Given the description of an element on the screen output the (x, y) to click on. 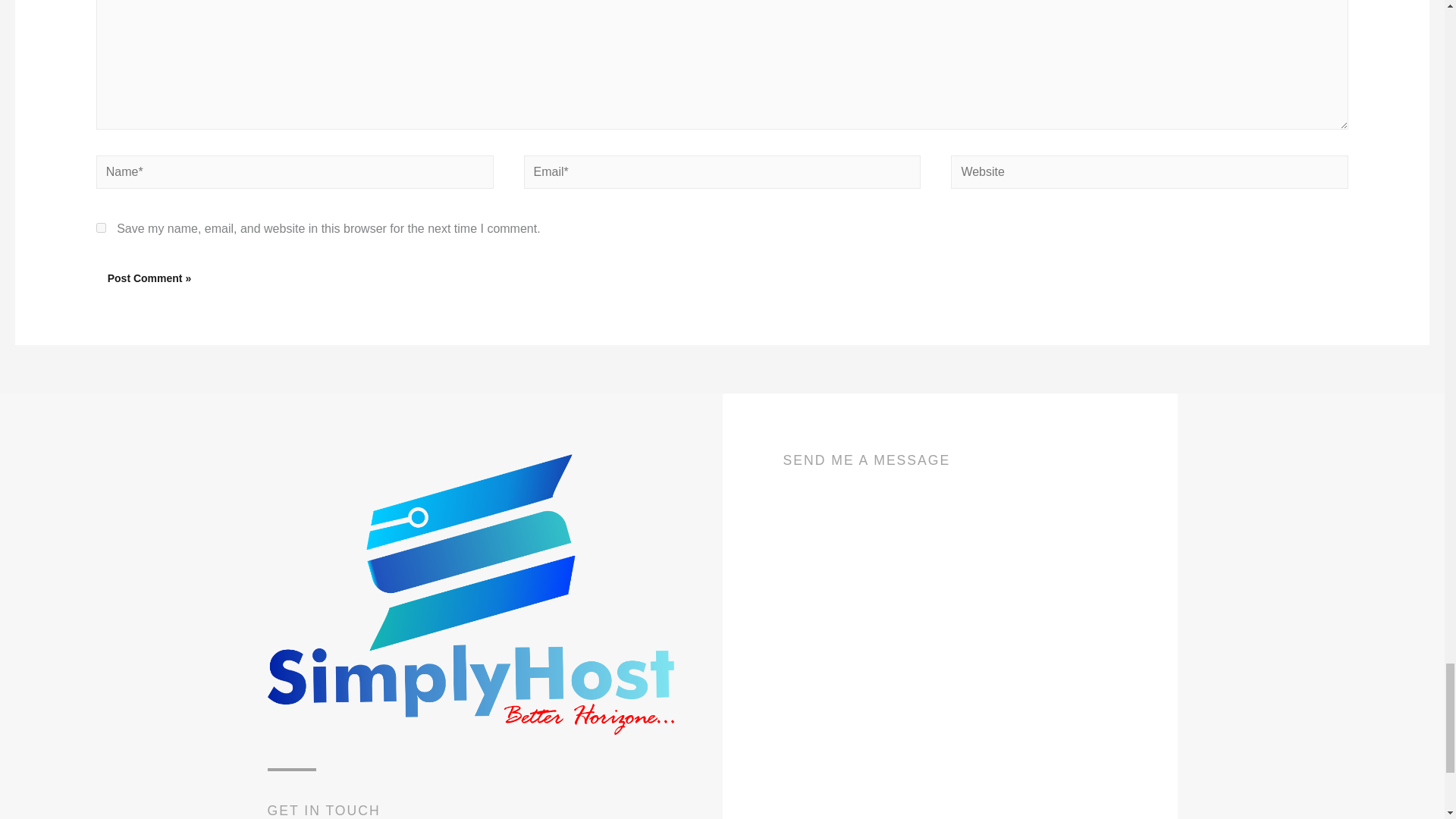
yes (101, 227)
